Given the description of an element on the screen output the (x, y) to click on. 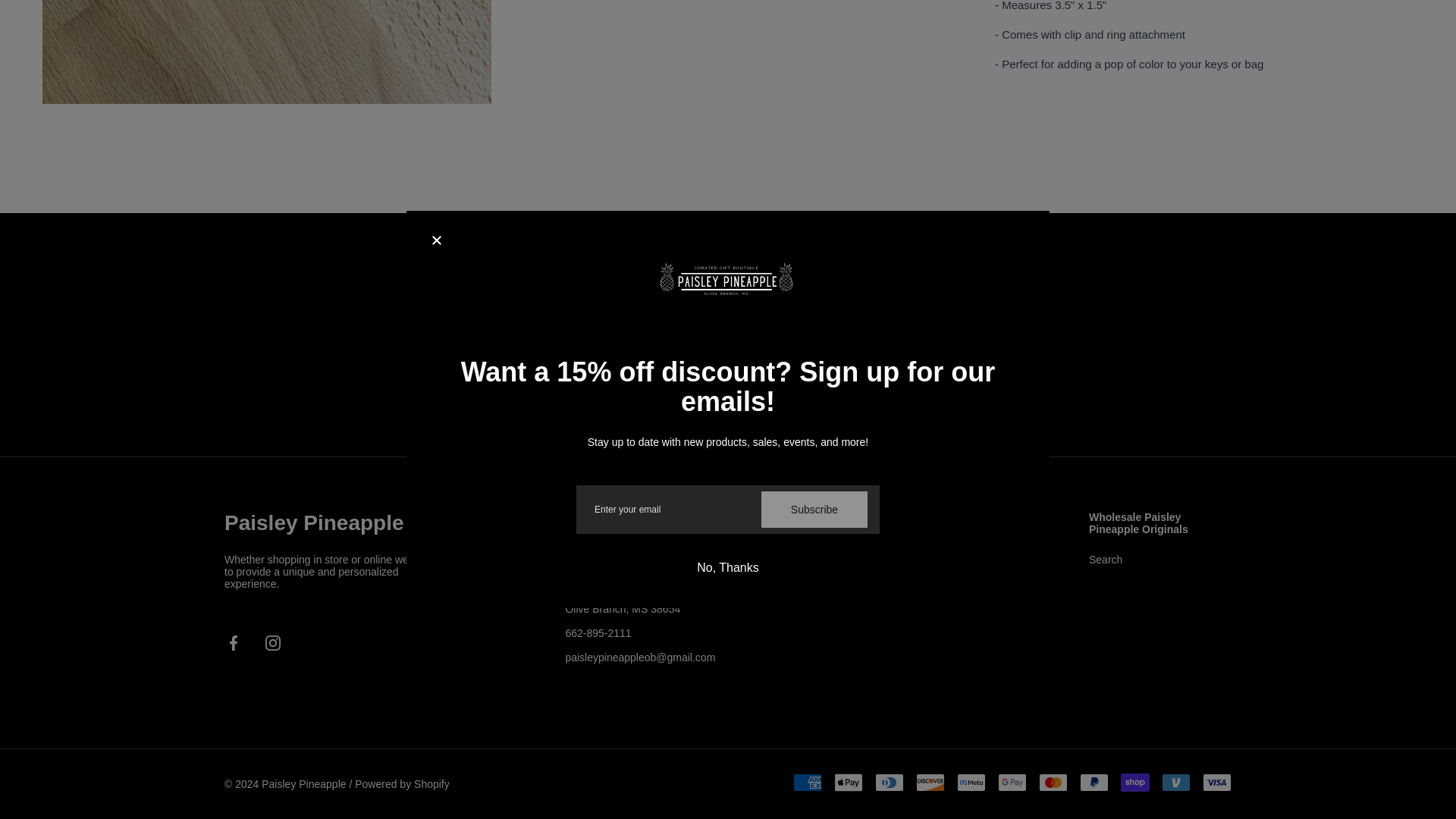
Shop Pay (1135, 782)
Meta Pay (970, 782)
Google Pay (1011, 782)
American Express (807, 782)
PayPal (1094, 782)
Diners Club (889, 782)
Venmo (1176, 782)
Mastercard (1053, 782)
Discover (929, 782)
Apple Pay (848, 782)
